Given the description of an element on the screen output the (x, y) to click on. 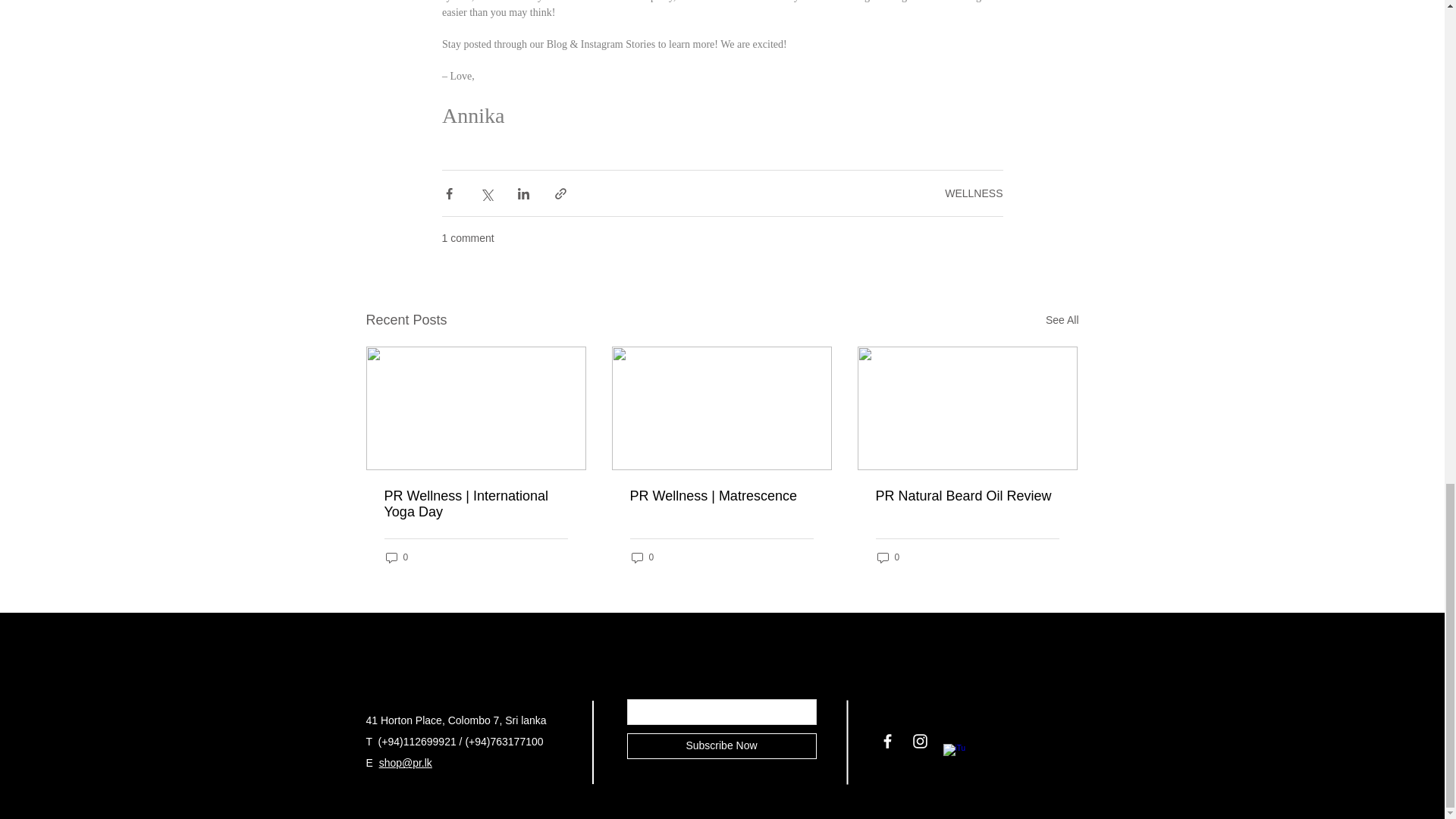
0 (888, 557)
WELLNESS (973, 193)
Subscribe Now (720, 746)
PR Natural Beard Oil Review (966, 496)
See All (1061, 320)
0 (396, 557)
0 (641, 557)
